Given the description of an element on the screen output the (x, y) to click on. 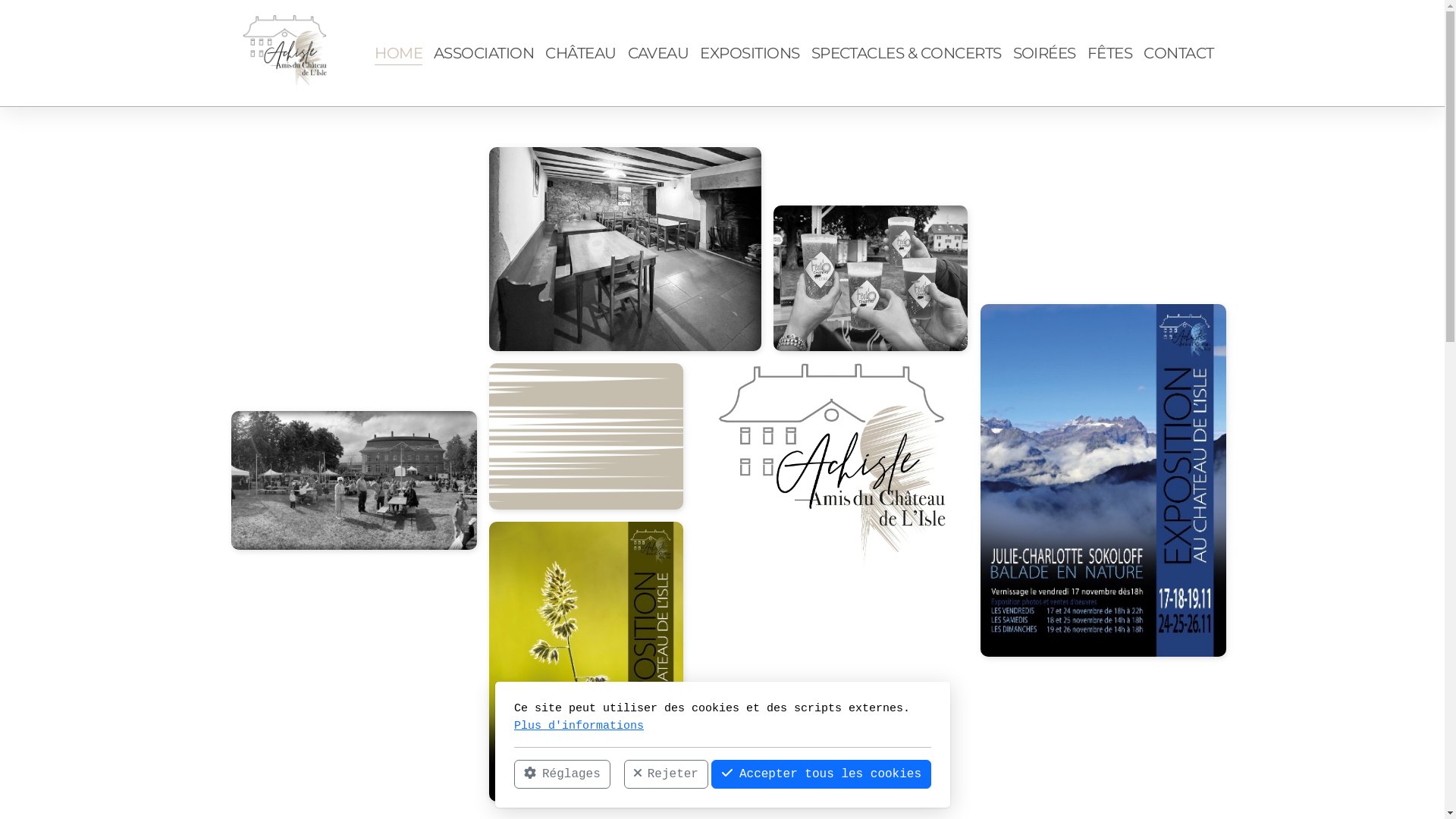
Rejeter Element type: text (665, 773)
CAVEAU Element type: text (658, 52)
Accepter tous les cookies Element type: text (820, 773)
SPECTACLES & CONCERTS Element type: text (906, 52)
HOME Element type: text (398, 52)
Plus d'informations Element type: text (578, 724)
ASSOCIATION Element type: text (483, 52)
CONTACT Element type: text (1178, 52)
EXPOSITIONS Element type: text (749, 52)
